Given the description of an element on the screen output the (x, y) to click on. 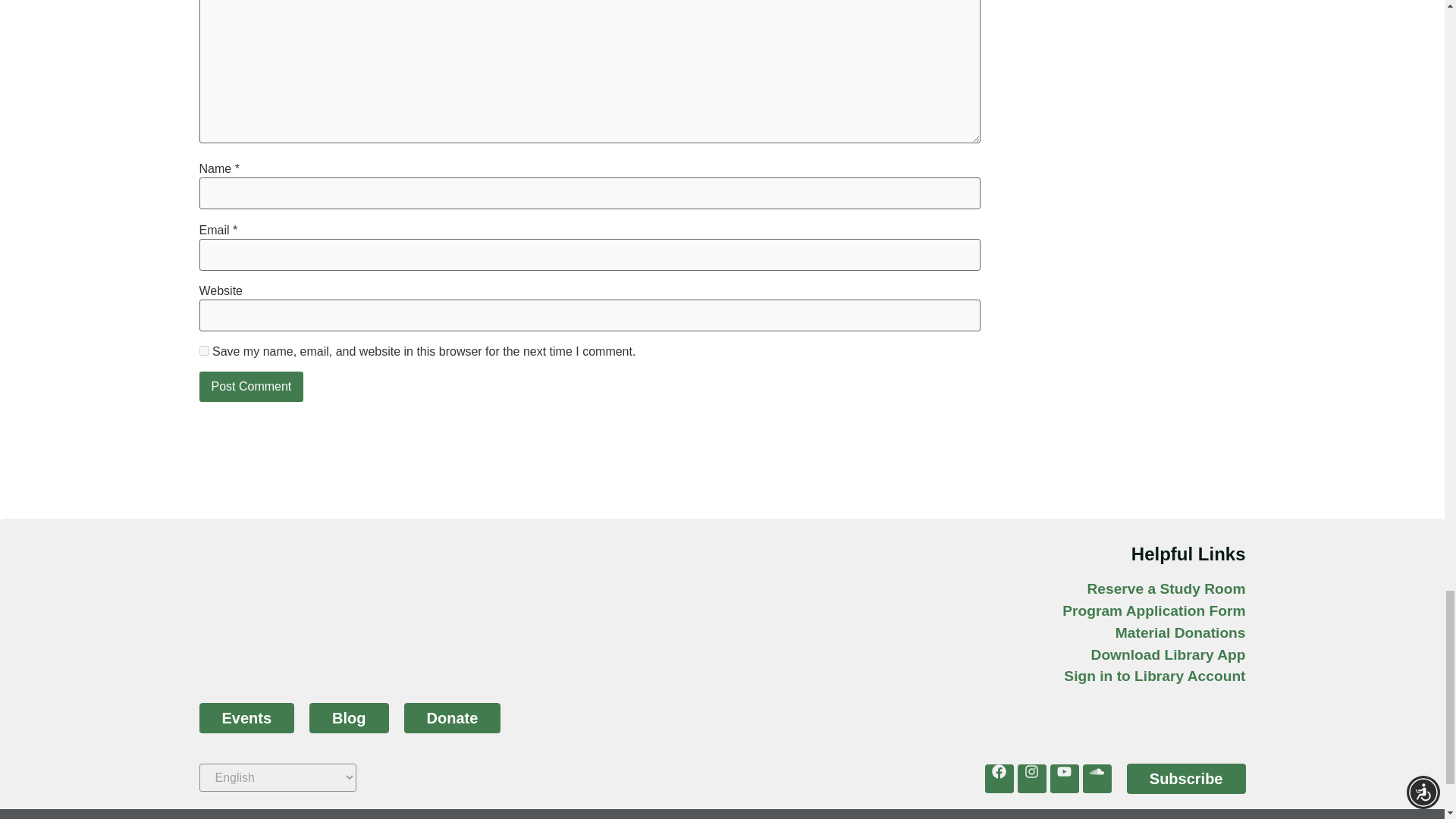
Post Comment (250, 386)
yes (203, 350)
